Given the description of an element on the screen output the (x, y) to click on. 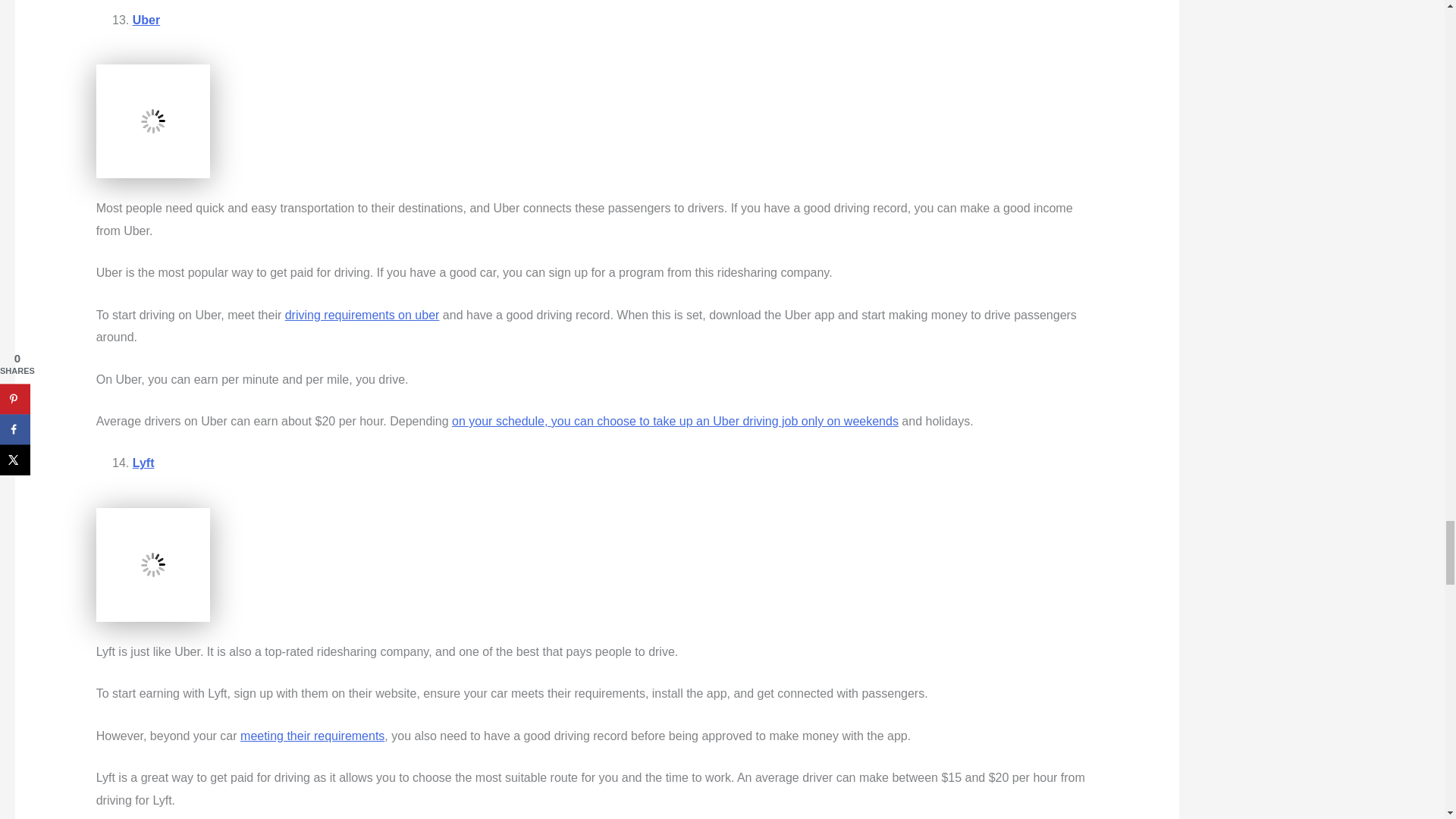
driving requirements on uber (362, 314)
Uber (146, 19)
Lyft (143, 462)
meeting their requirements (312, 735)
